Given the description of an element on the screen output the (x, y) to click on. 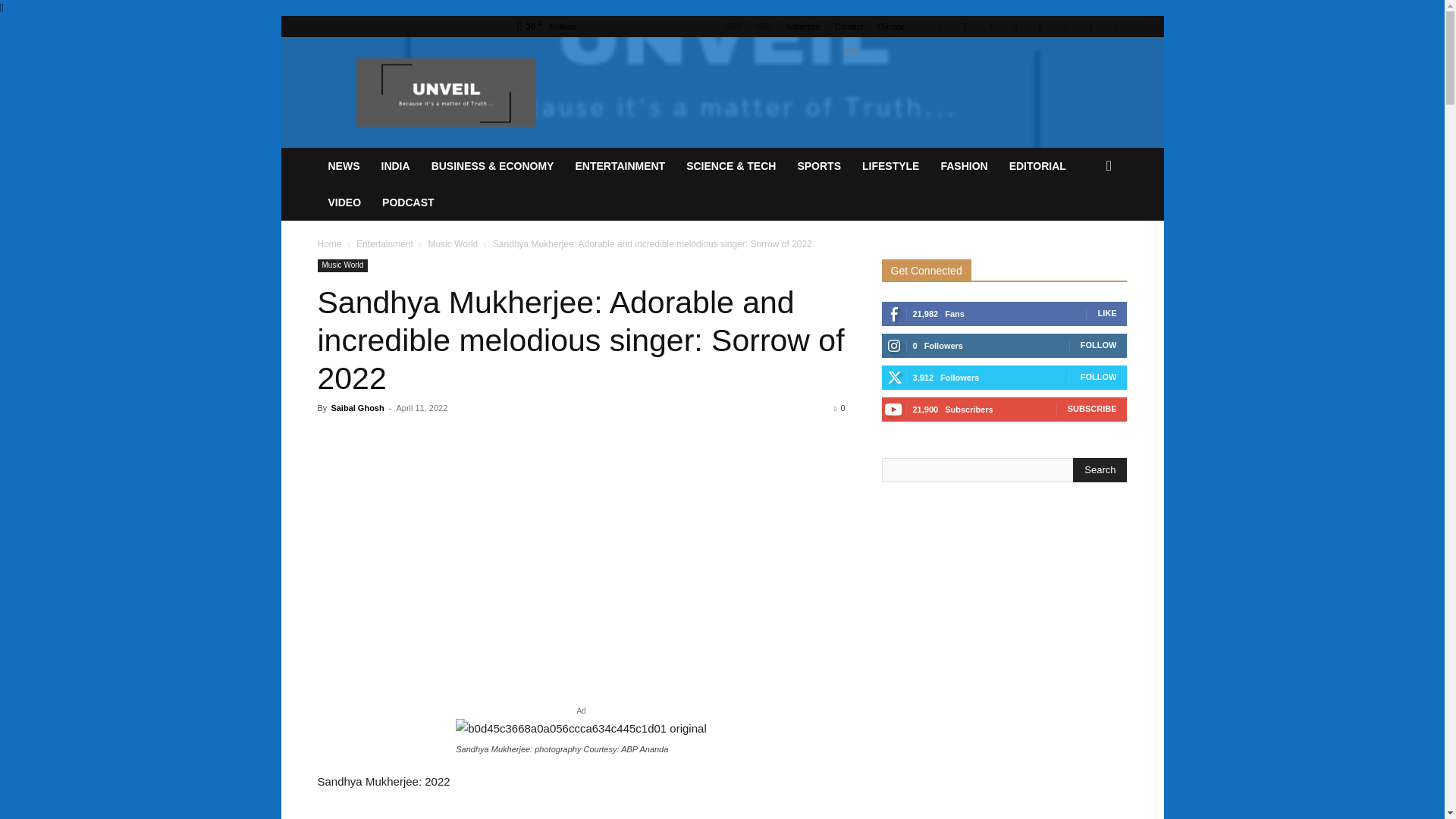
Instagram (964, 25)
VKontakte (1090, 25)
Mail (1015, 25)
Pinterest (1040, 25)
Linkedin (989, 25)
Twitter (1065, 25)
Facebook (940, 25)
Search (1099, 469)
